Given the description of an element on the screen output the (x, y) to click on. 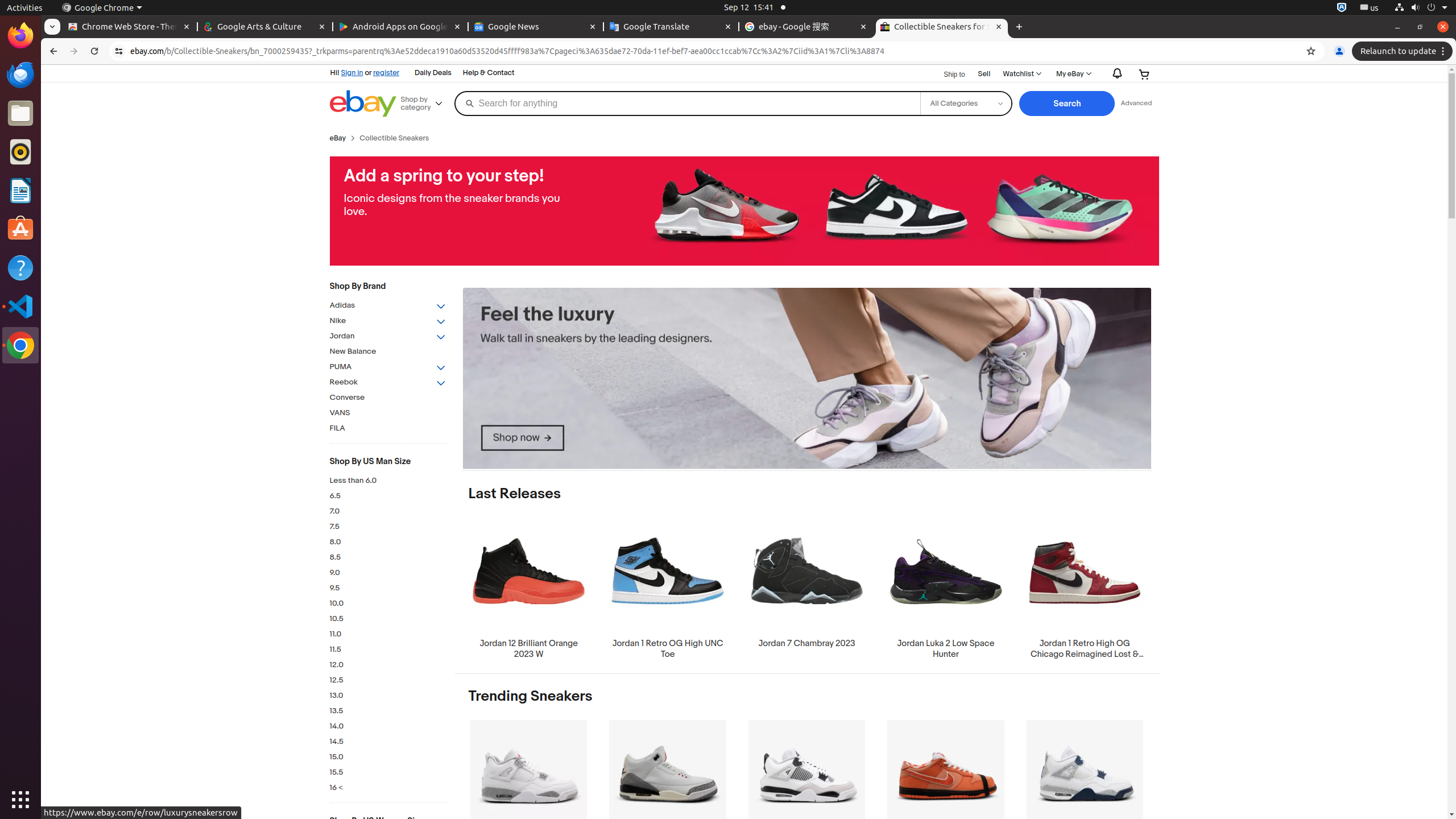
11.0 Element type: link (387, 634)
Reebok Element type: push-button (387, 382)
8.0 Element type: link (387, 541)
Thunderbird Mail Element type: push-button (20, 74)
7.0 Element type: link (387, 511)
